Given the description of an element on the screen output the (x, y) to click on. 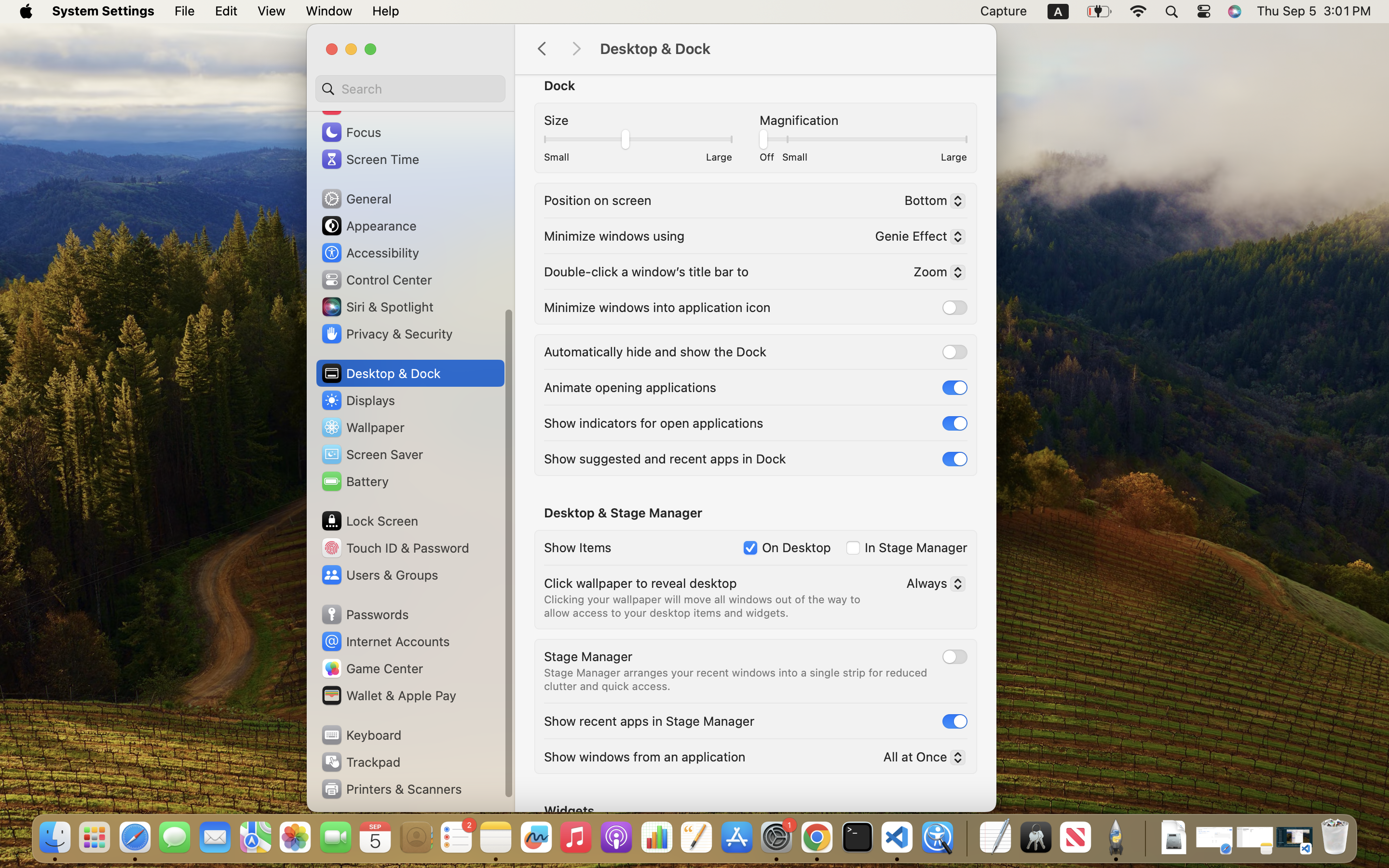
Lock Screen Element type: AXStaticText (369, 520)
Printers & Scanners Element type: AXStaticText (391, 788)
Siri & Spotlight Element type: AXStaticText (376, 306)
Stage Manager Element type: AXStaticText (588, 655)
